Given the description of an element on the screen output the (x, y) to click on. 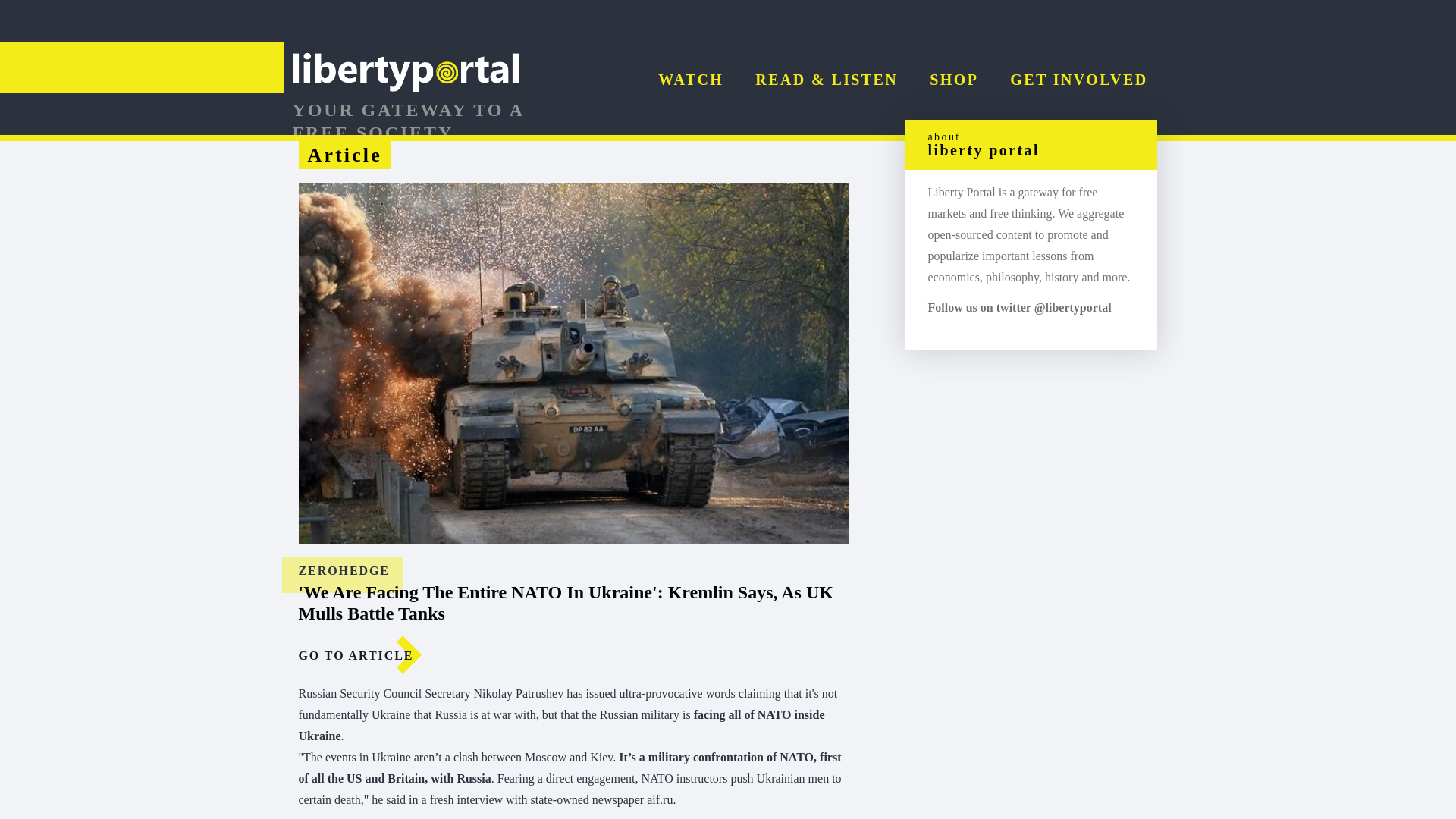
WATCH (690, 79)
GET INVOLVED (1078, 79)
SHOP (954, 79)
